Given the description of an element on the screen output the (x, y) to click on. 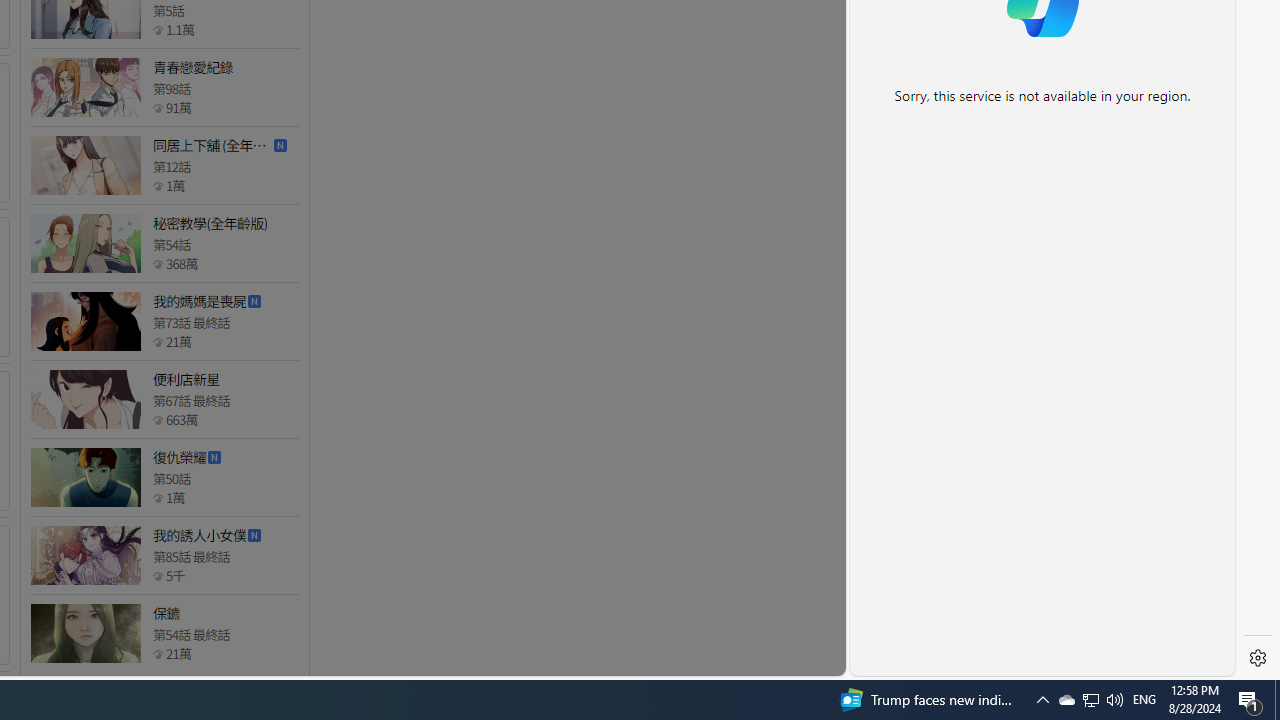
Class: thumb_img (85, 633)
